Given the description of an element on the screen output the (x, y) to click on. 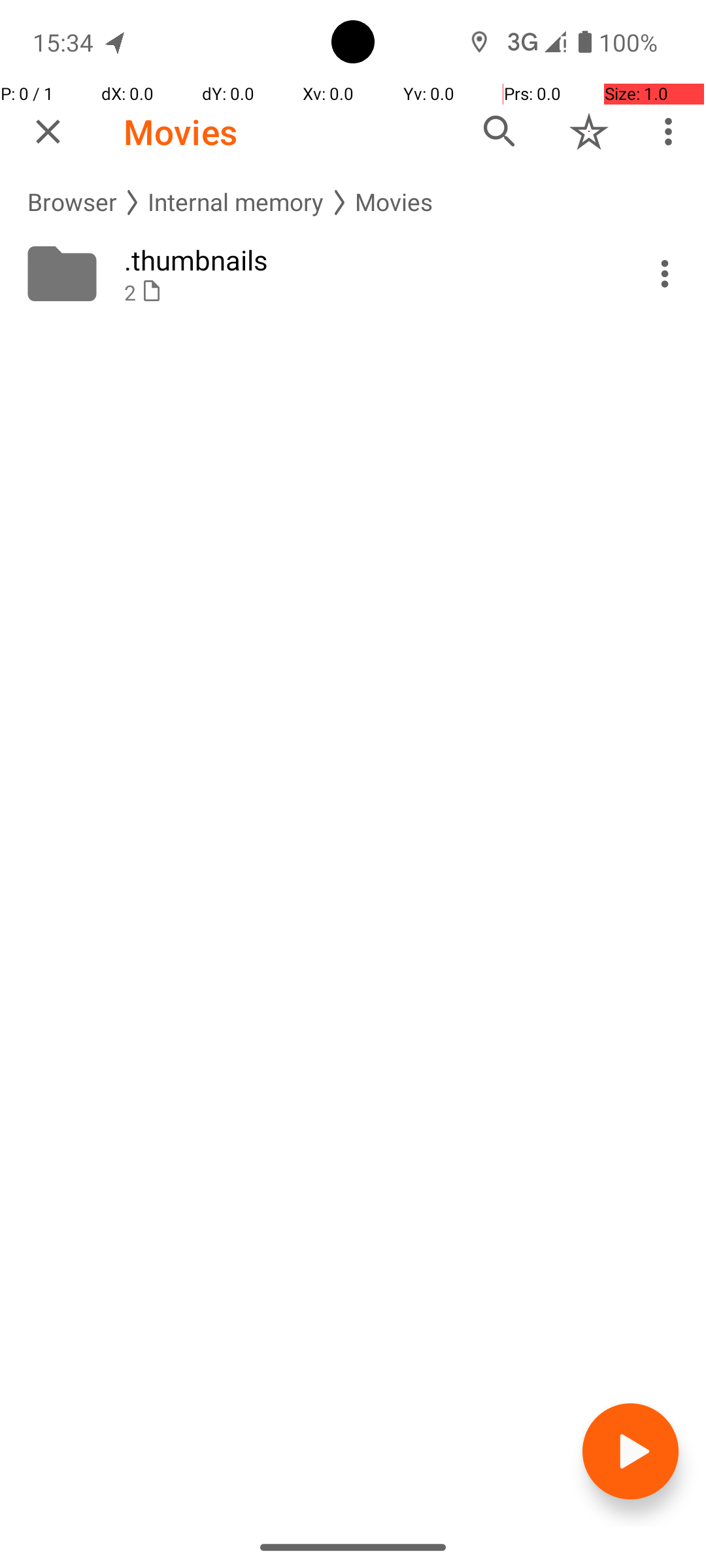
Movies Element type: android.widget.TextView (180, 131)
Add to favorites Element type: android.widget.TextView (588, 131)
Play Element type: android.widget.ImageButton (630, 1451)
Browser Element type: android.widget.TextView (72, 202)
Internal memory Element type: android.widget.TextView (235, 202)
Folder: .thumbnails, 2 media files Element type: android.view.ViewGroup (353, 273)
.thumbnails Element type: android.widget.TextView (366, 259)
2 *§* Element type: android.widget.TextView (366, 292)
More Actions Element type: android.widget.ImageView (664, 273)
